Given the description of an element on the screen output the (x, y) to click on. 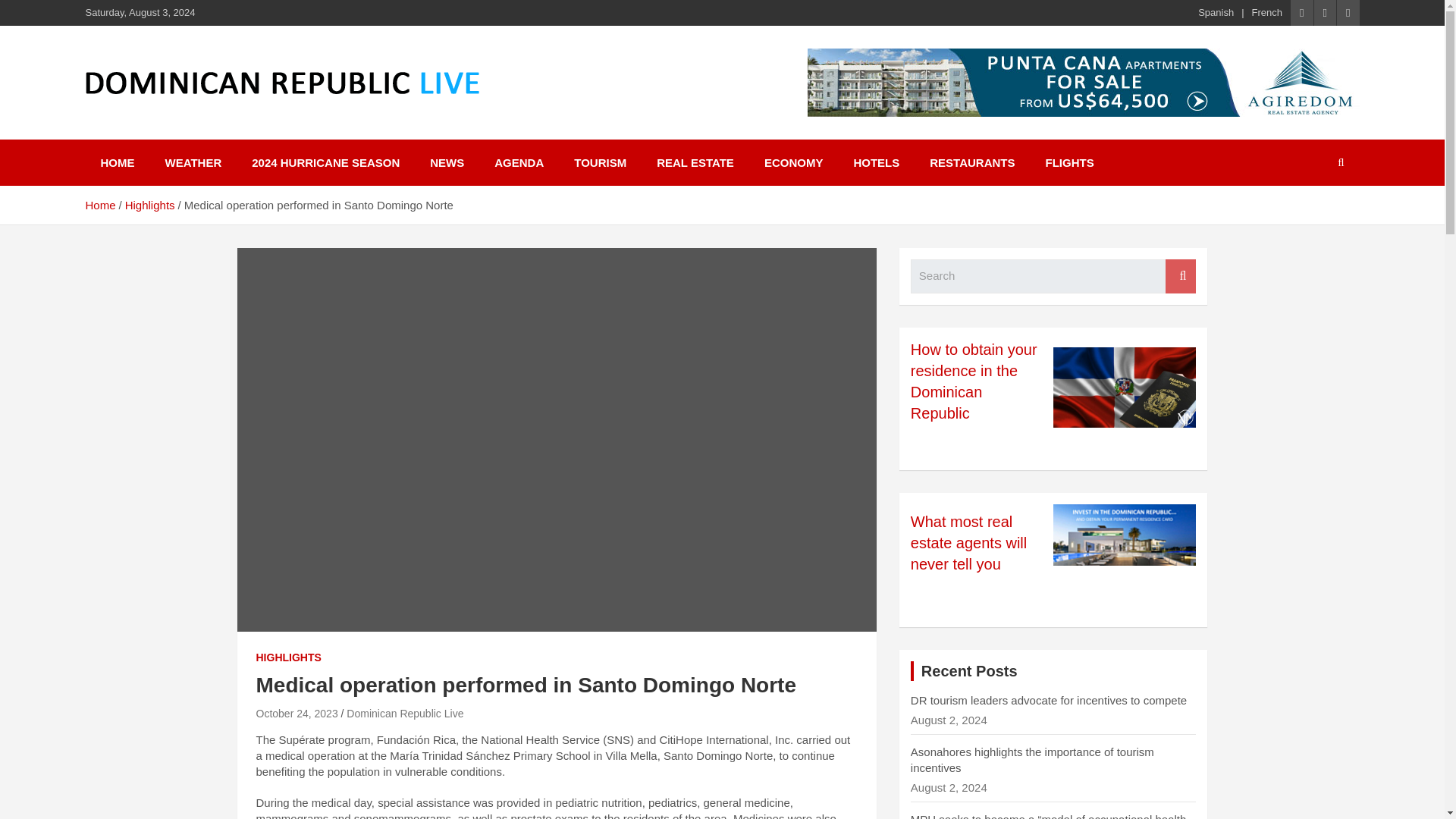
REAL ESTATE (695, 162)
DOMINICAN REPUBLIC LIVE (291, 113)
RESTAURANTS (971, 162)
Medical operation performed in Santo Domingo Norte (296, 713)
Search (1180, 276)
Highlights (149, 205)
HOTELS (876, 162)
October 24, 2023 (296, 713)
Dominican Republic Live (404, 713)
WEATHER (193, 162)
HIGHLIGHTS (288, 657)
AGENDA (519, 162)
French (1267, 12)
Logo Dominican Republic Live 2024 - DOMINICAN REPUBLIC LIVE (281, 83)
NEWS (446, 162)
